Given the description of an element on the screen output the (x, y) to click on. 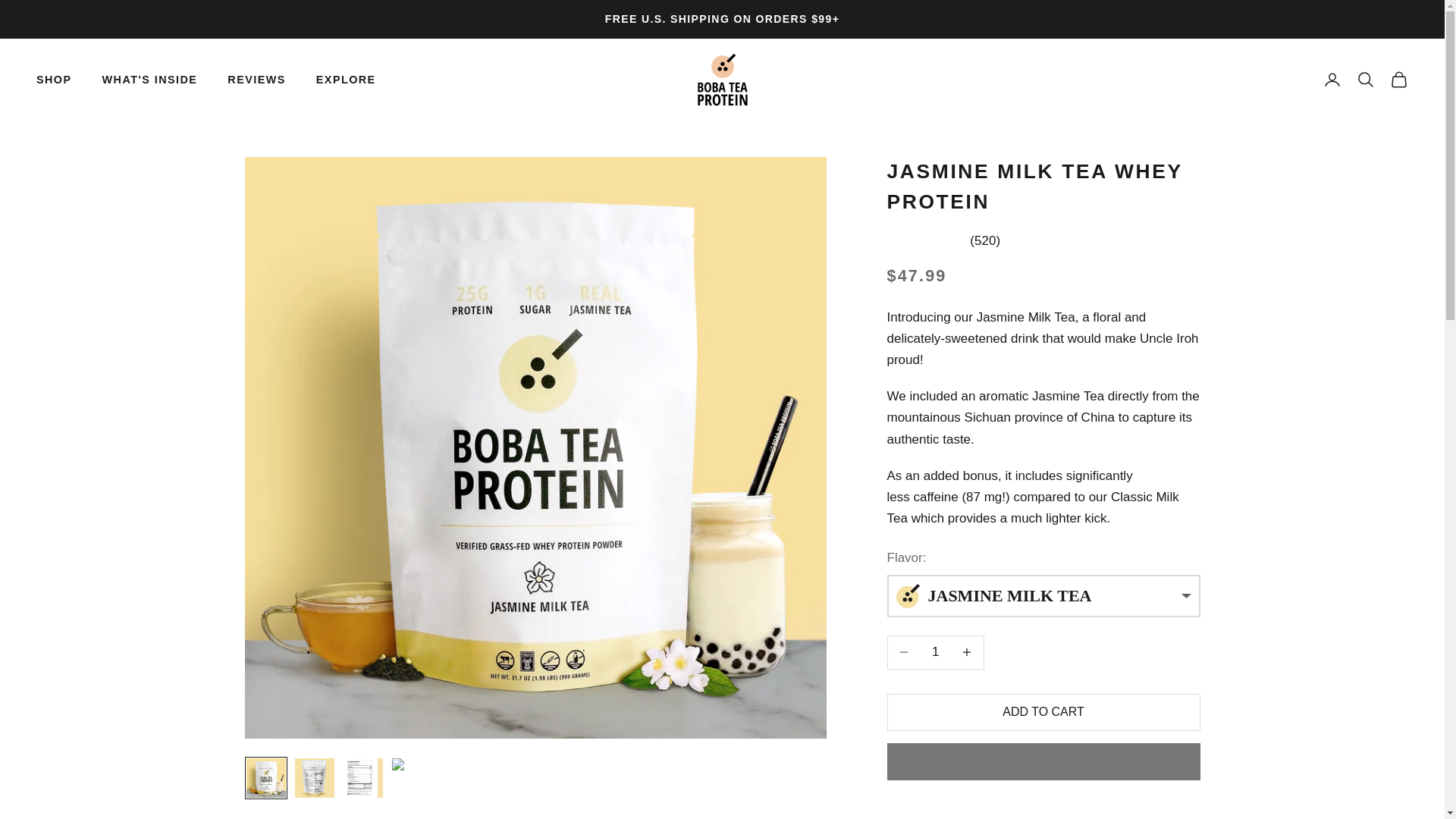
1 (935, 652)
WHAT'S INSIDE (149, 79)
Boba Tea Protein (722, 79)
